Given the description of an element on the screen output the (x, y) to click on. 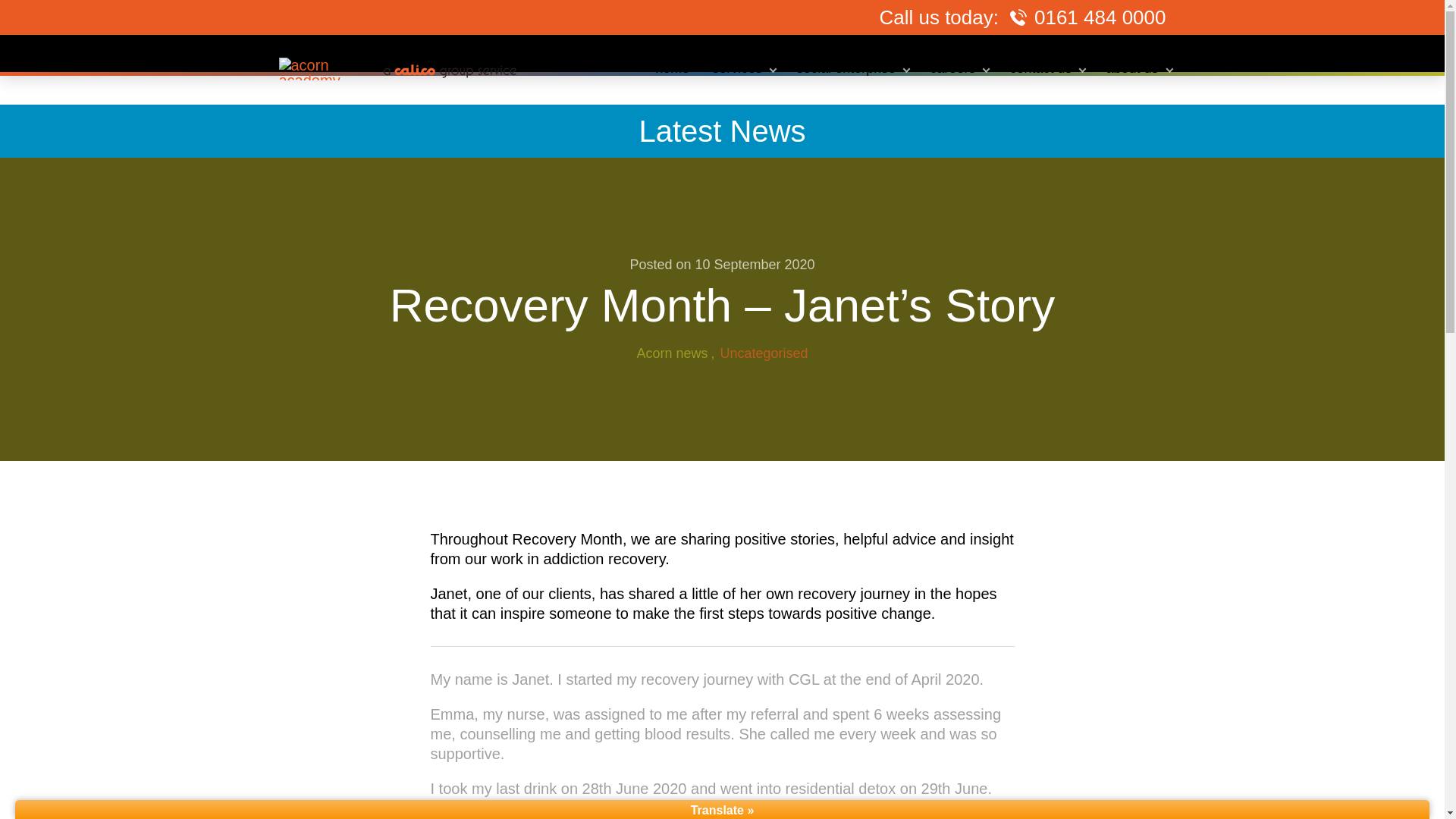
home (671, 67)
social enterprise (851, 67)
services (742, 67)
contact us (1045, 67)
careers (957, 67)
about us (1137, 67)
0161 484 0000 (1099, 16)
